Given the description of an element on the screen output the (x, y) to click on. 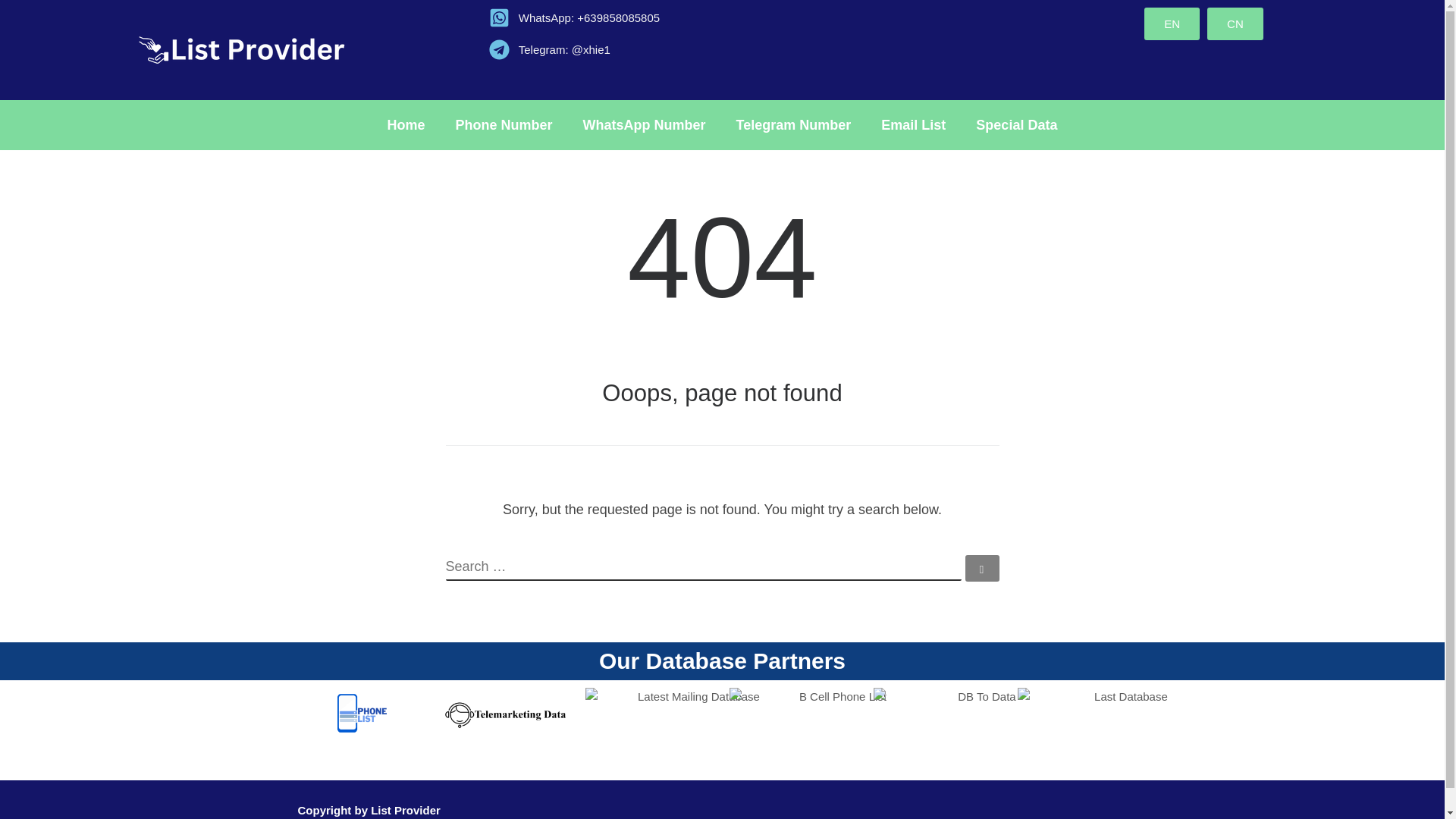
EN (1171, 23)
List Provider (406, 809)
Special Data (1015, 124)
Home (406, 124)
Telegram Number (793, 124)
CN (1235, 23)
Email List (913, 124)
Phone Number (504, 124)
WhatsApp Number (643, 124)
